Given the description of an element on the screen output the (x, y) to click on. 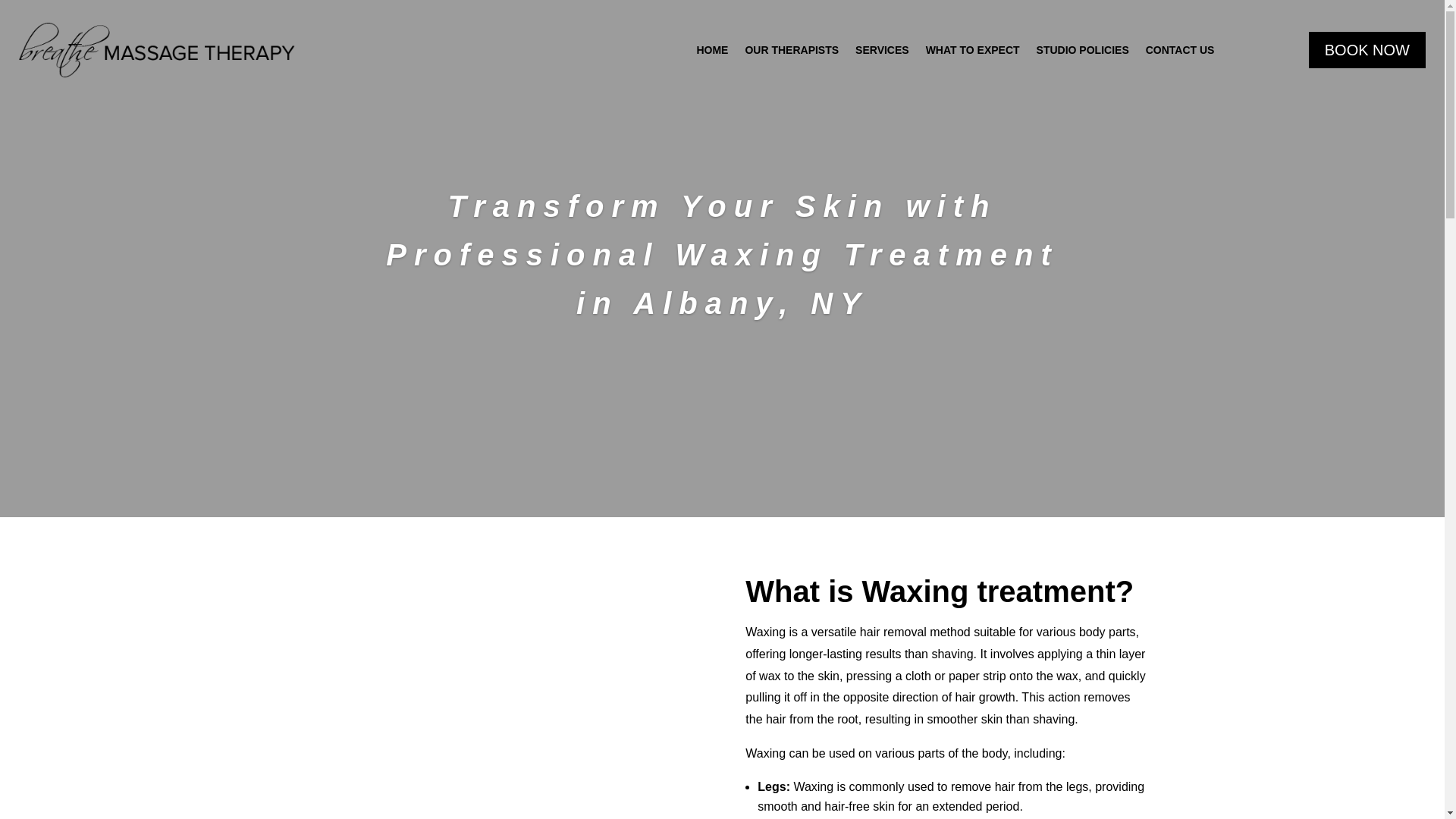
STUDIO POLICIES (1082, 49)
CONTACT US (1179, 49)
OUR THERAPISTS (791, 49)
BOOK NOW (1366, 49)
SERVICES (882, 49)
WHAT TO EXPECT (973, 49)
